Given the description of an element on the screen output the (x, y) to click on. 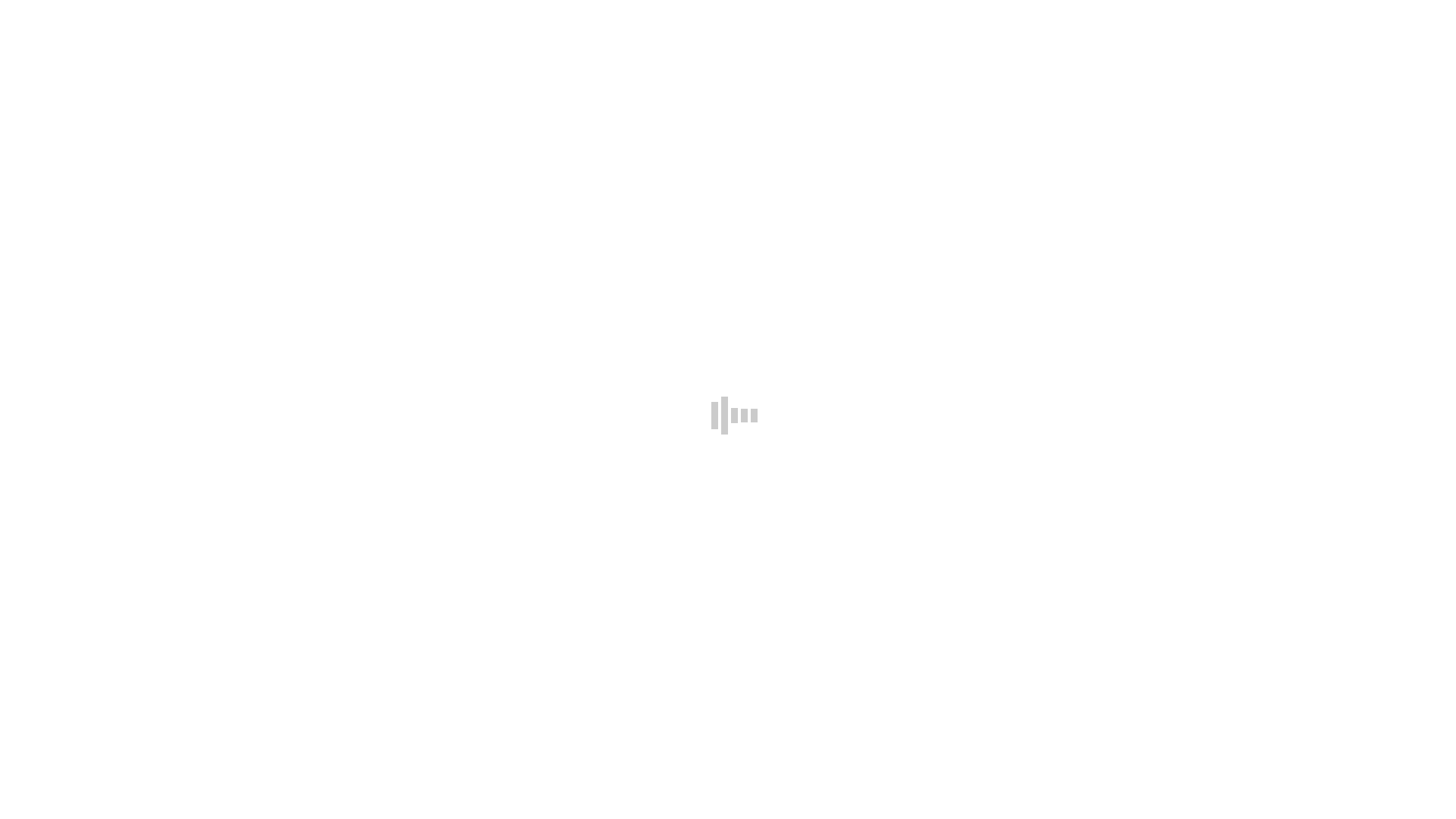
Skip to content Element type: text (42, 12)
